Given the description of an element on the screen output the (x, y) to click on. 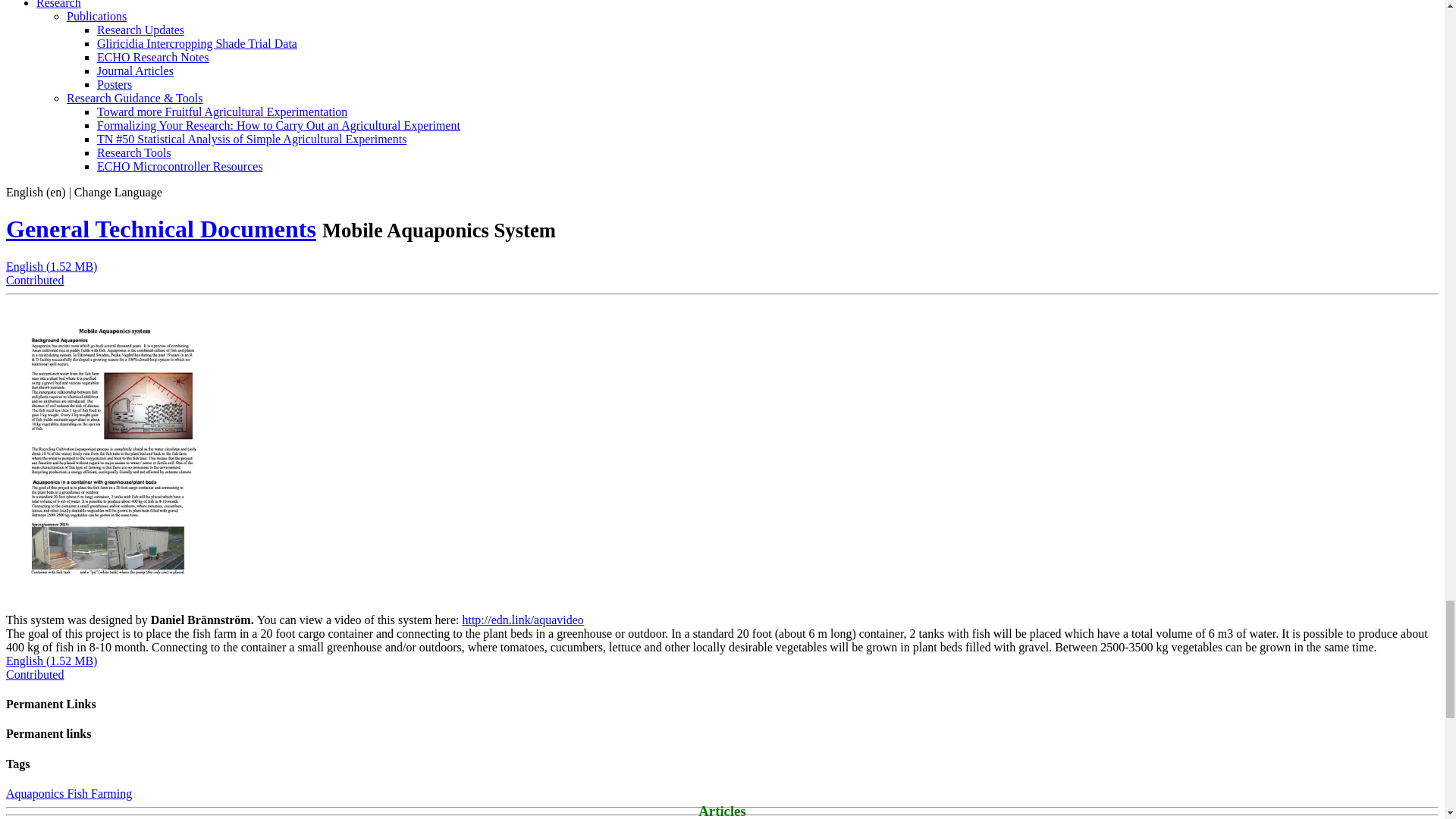
Fish Farming (99, 793)
Aquaponics (35, 793)
